Given the description of an element on the screen output the (x, y) to click on. 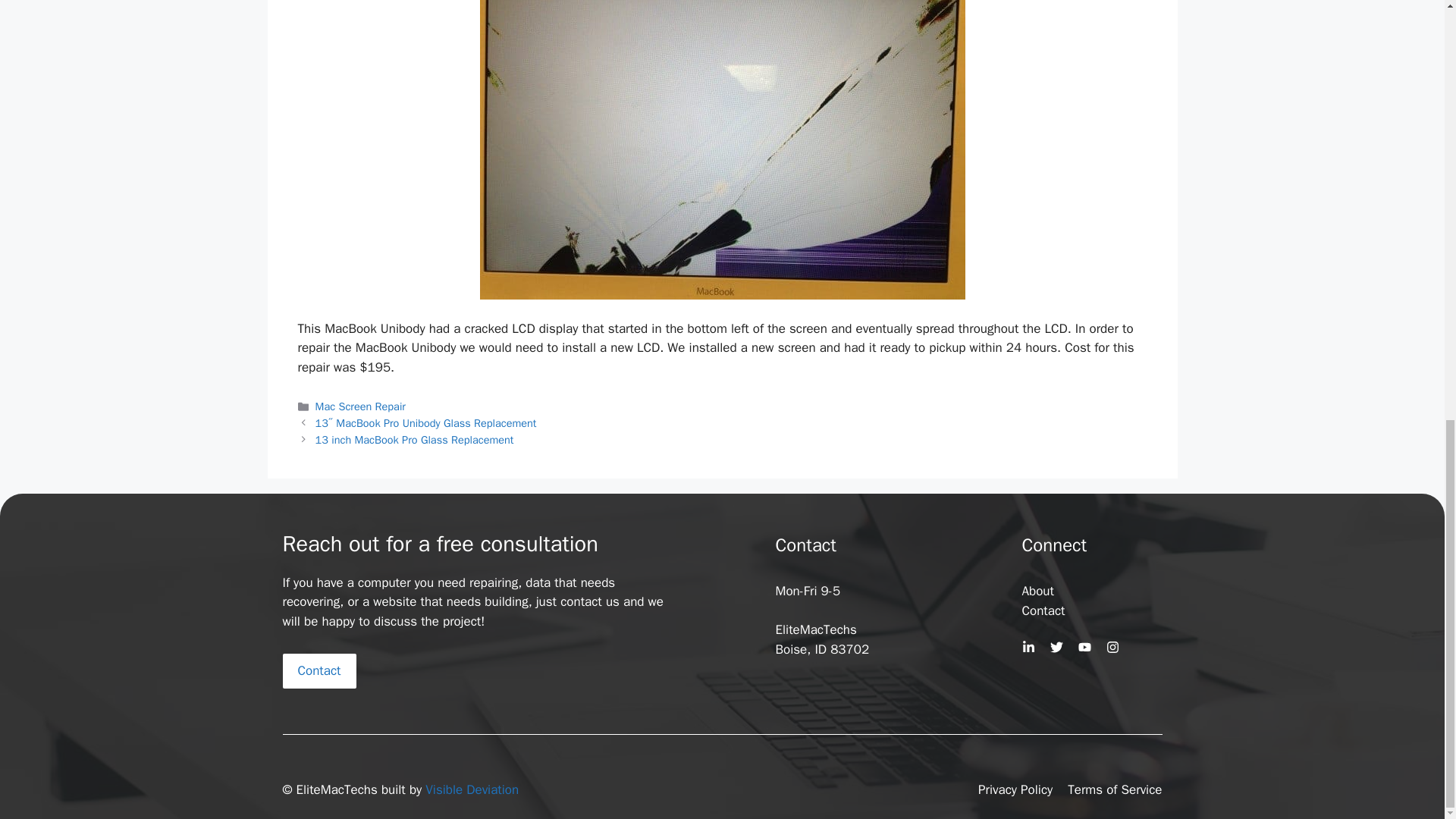
Contact (318, 670)
Contact (1043, 610)
Privacy Policy (1015, 790)
13 inch MacBook Pro Glass Replacement (414, 439)
Visible Deviation (471, 789)
Terms of Service (1114, 790)
Mac Screen Repair (360, 406)
About (1038, 590)
